Given the description of an element on the screen output the (x, y) to click on. 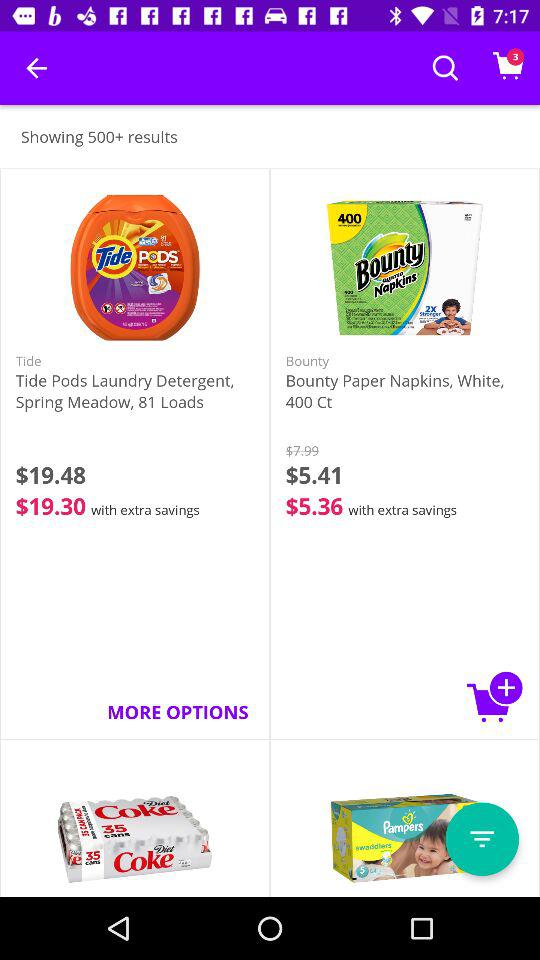
add to cart (495, 696)
